Given the description of an element on the screen output the (x, y) to click on. 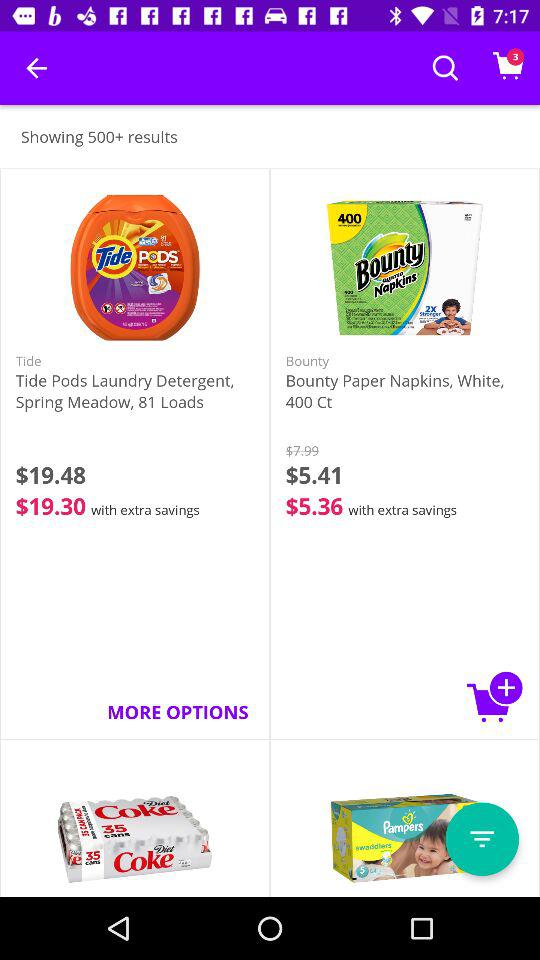
add to cart (495, 696)
